Given the description of an element on the screen output the (x, y) to click on. 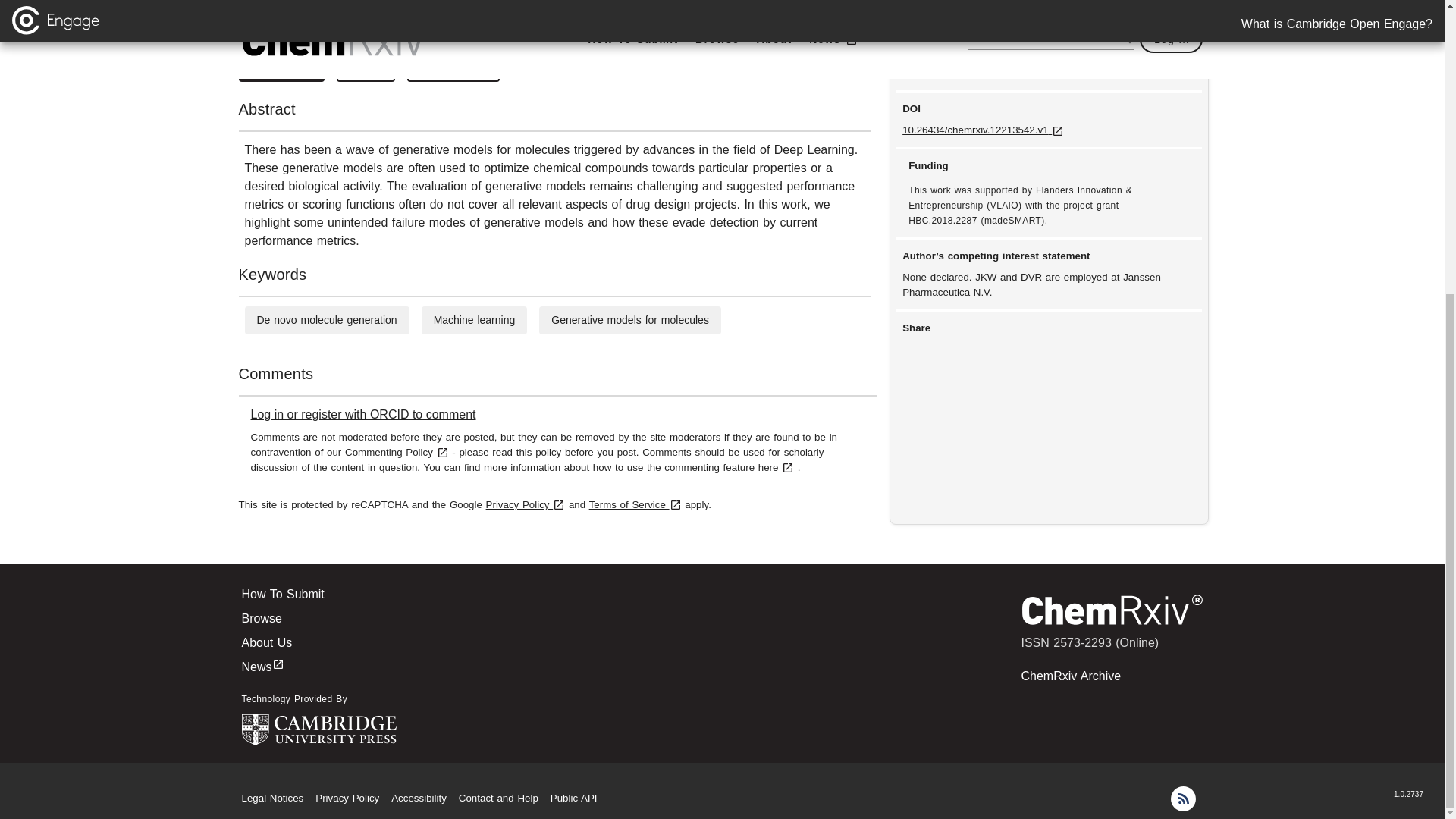
De novo molecule generation (326, 319)
Generative models for molecules (630, 319)
Log in or register with ORCID to comment (363, 414)
Comment (453, 67)
Cite (365, 67)
Download (280, 67)
Machine learning (474, 319)
